Given the description of an element on the screen output the (x, y) to click on. 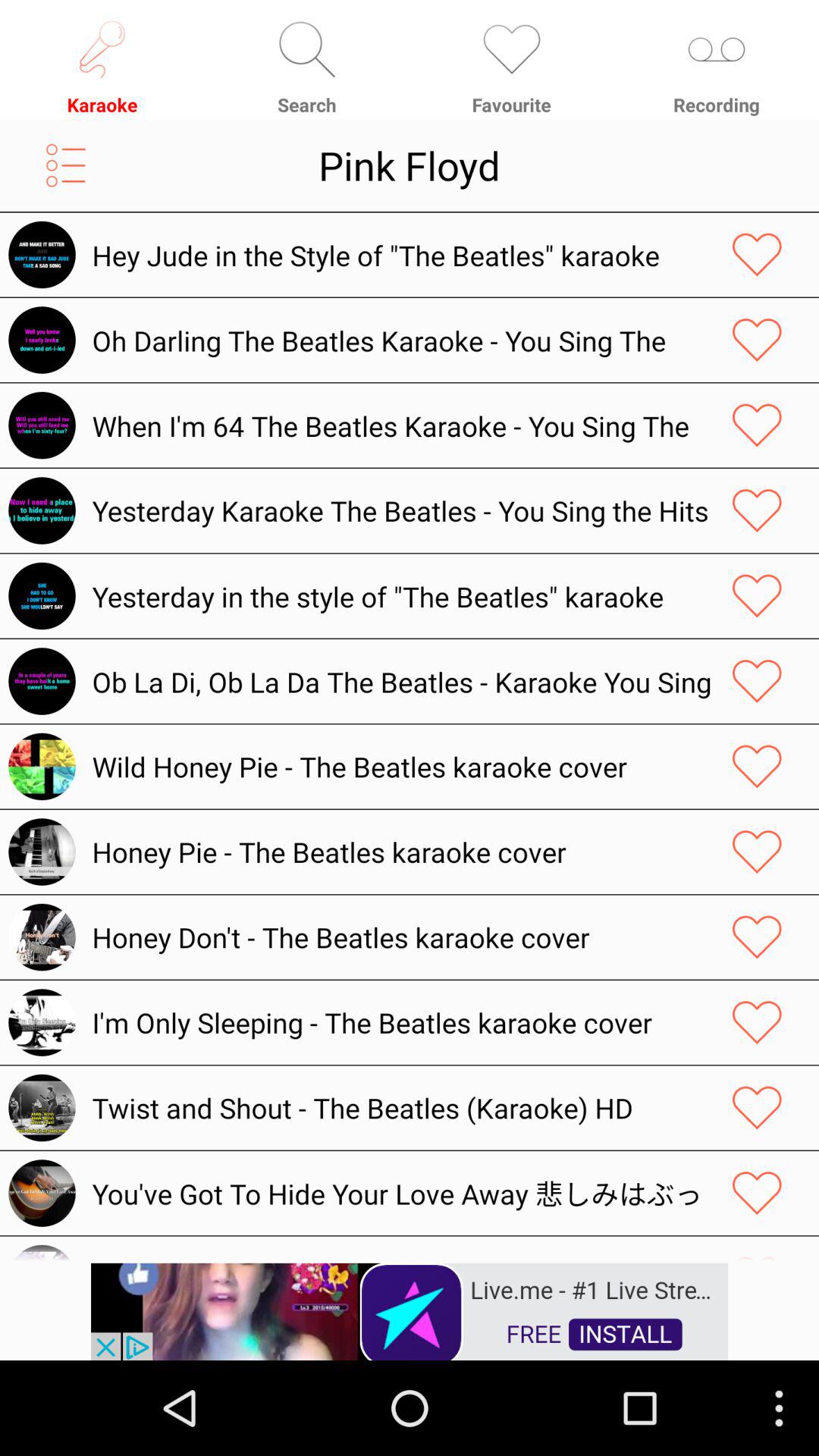
select article (756, 1022)
